Given the description of an element on the screen output the (x, y) to click on. 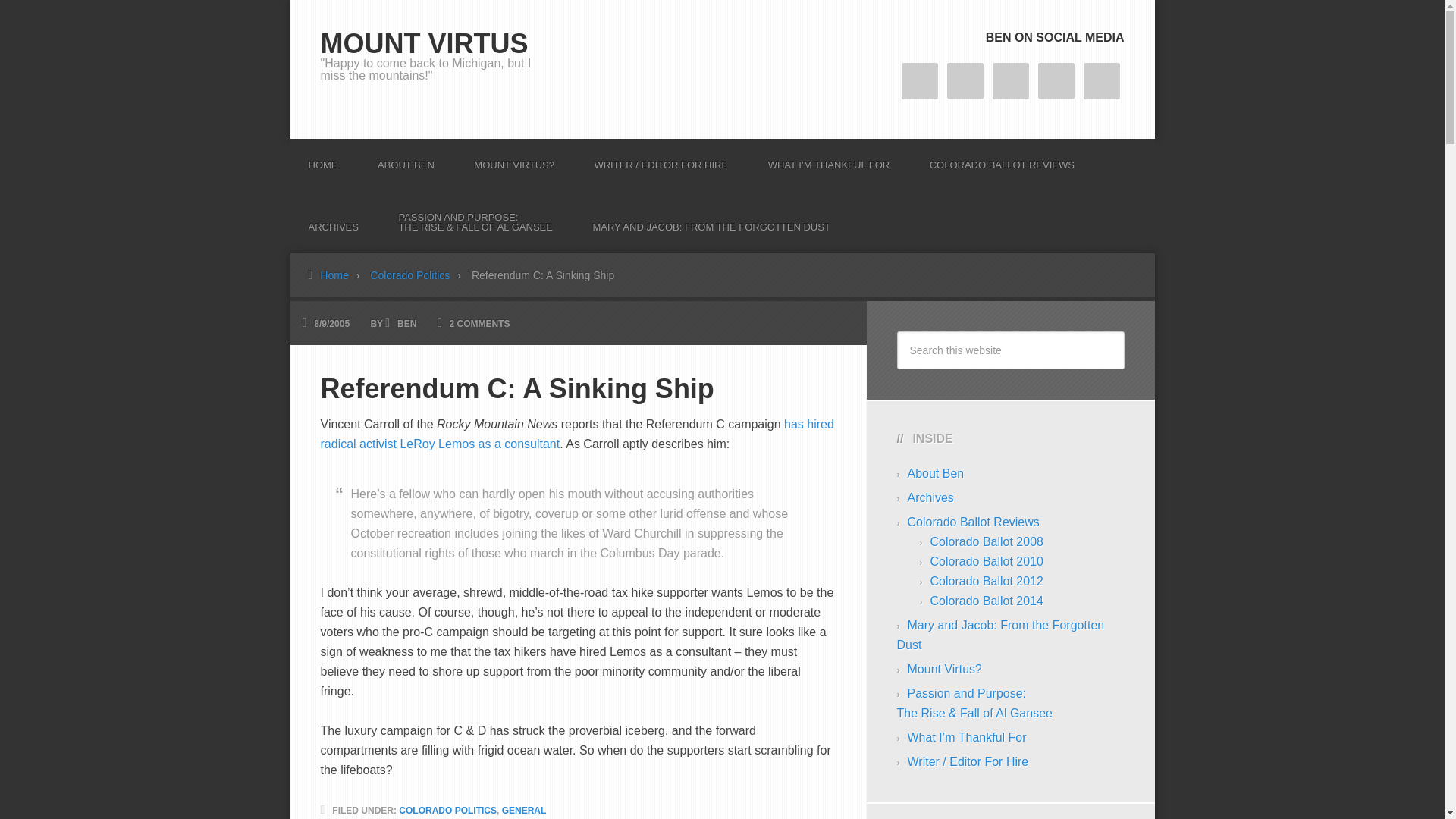
HOME (322, 159)
2 COMMENTS (480, 323)
About Ben (935, 472)
Colorado Politics (418, 275)
Colorado Ballot 2014 (986, 600)
GENERAL (524, 810)
MARY AND JACOB: FROM THE FORGOTTEN DUST (710, 222)
BEN (406, 323)
Colorado Ballot 2008 (986, 541)
has hired radical activist LeRoy Lemos as a consultant (576, 433)
ABOUT BEN (405, 159)
Colorado Ballot 2010 (986, 561)
